Given the description of an element on the screen output the (x, y) to click on. 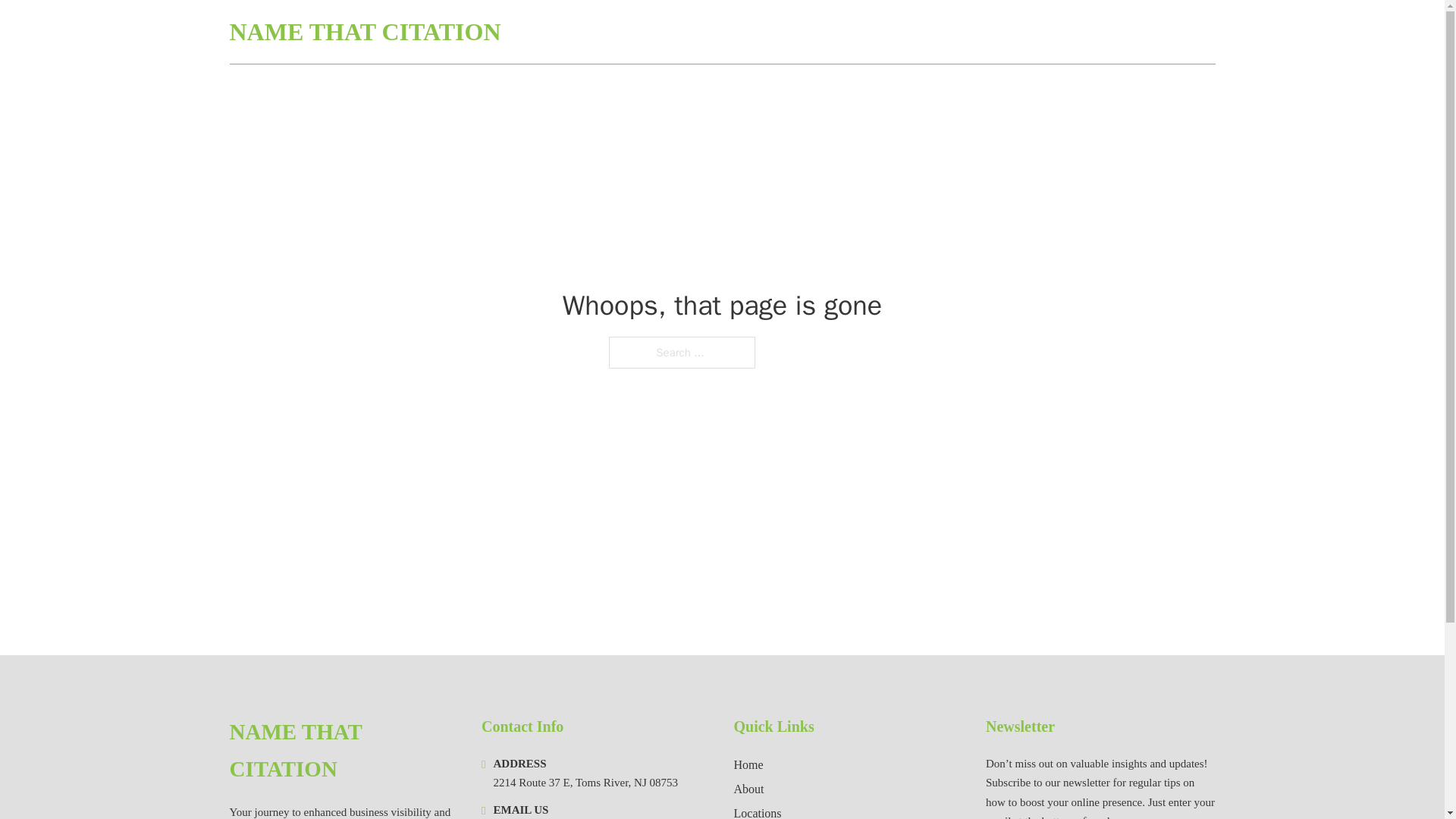
Home (747, 764)
NAME THAT CITATION (364, 31)
Locations (757, 811)
NAME THAT CITATION (343, 750)
HOME (1032, 31)
LOCATIONS (1105, 31)
About (748, 788)
